Given the description of an element on the screen output the (x, y) to click on. 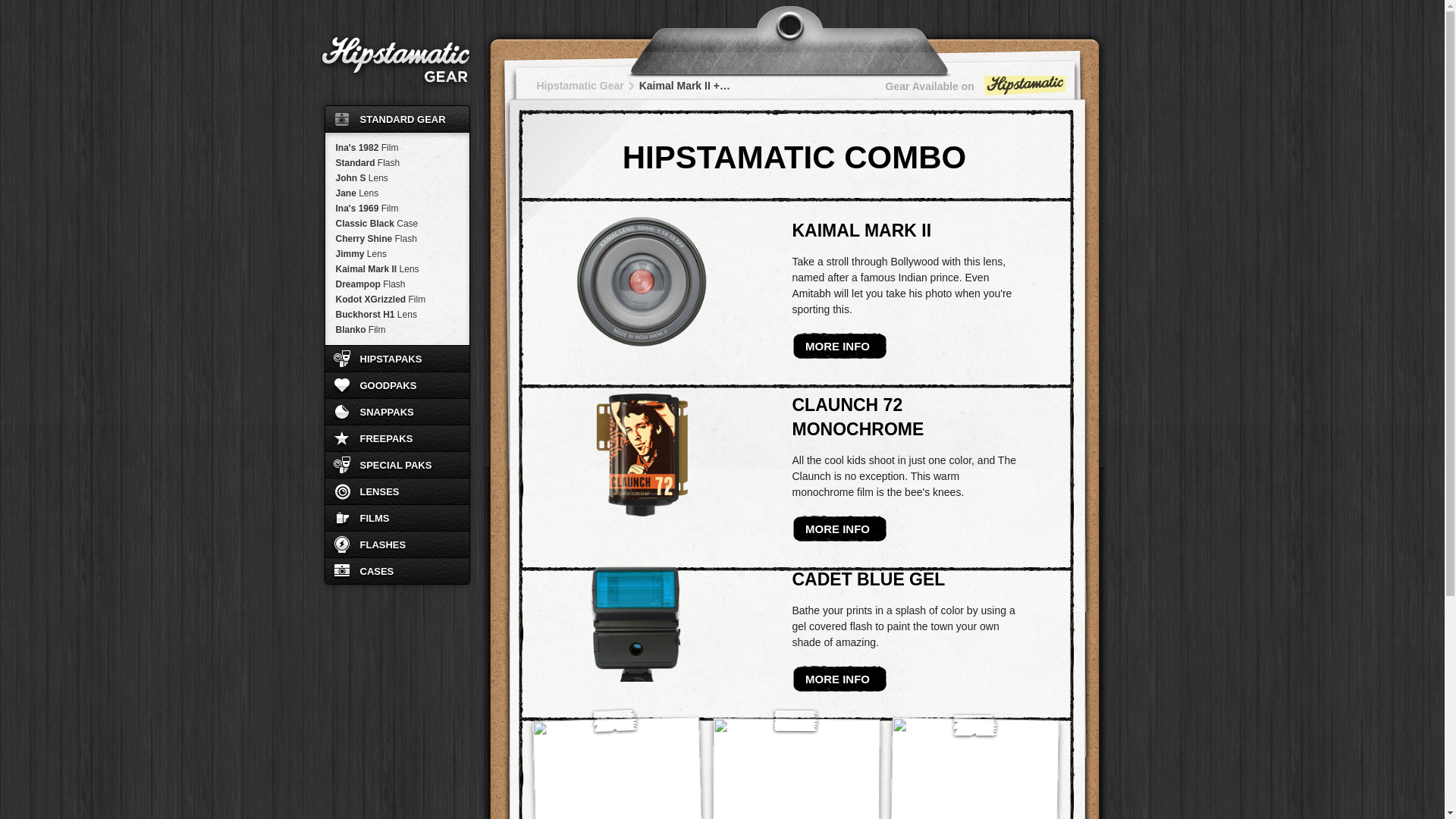
Dreampop Flash (396, 283)
HIPSTAPAKS (397, 358)
Classic Black Case (396, 223)
Cherry Shine Flash (396, 238)
Ina's 1982 Film (396, 147)
Standard Flash (396, 162)
Kaimal Mark II Lens (396, 268)
Blanko Film (396, 329)
Buckhorst H1 Lens (396, 314)
Jane Lens (396, 192)
